Given the description of an element on the screen output the (x, y) to click on. 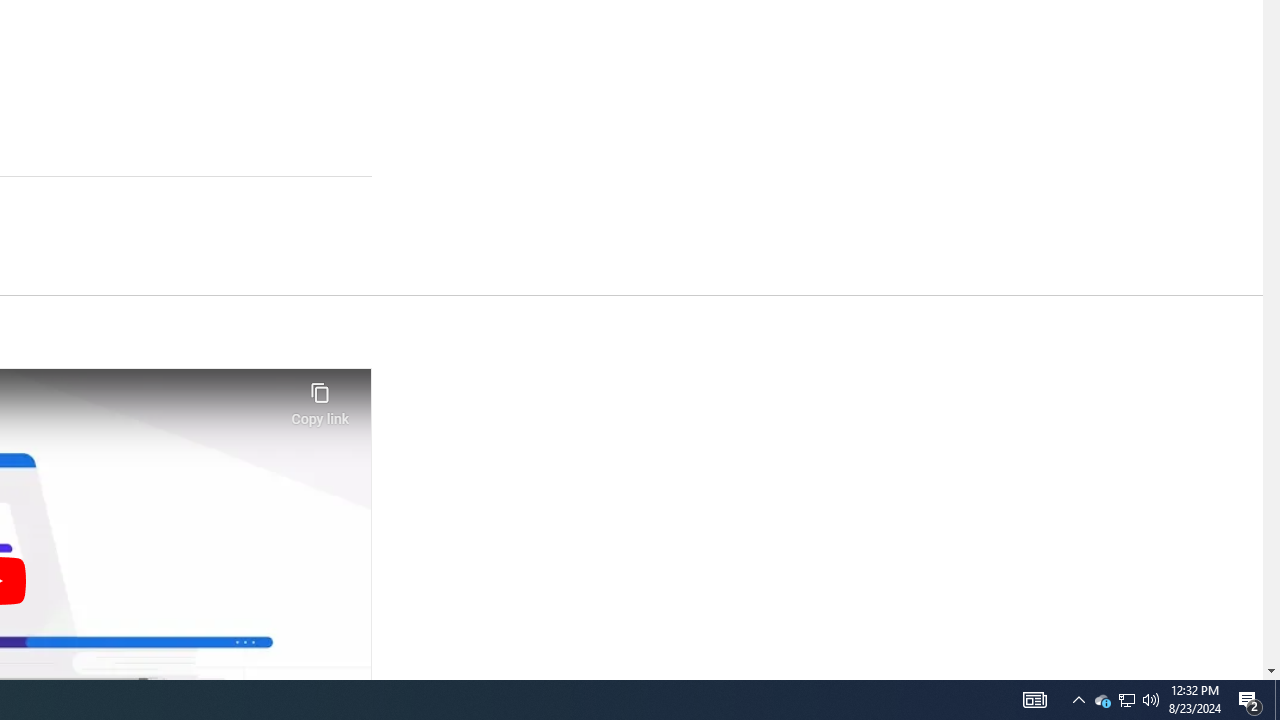
Copy link (319, 398)
